Given the description of an element on the screen output the (x, y) to click on. 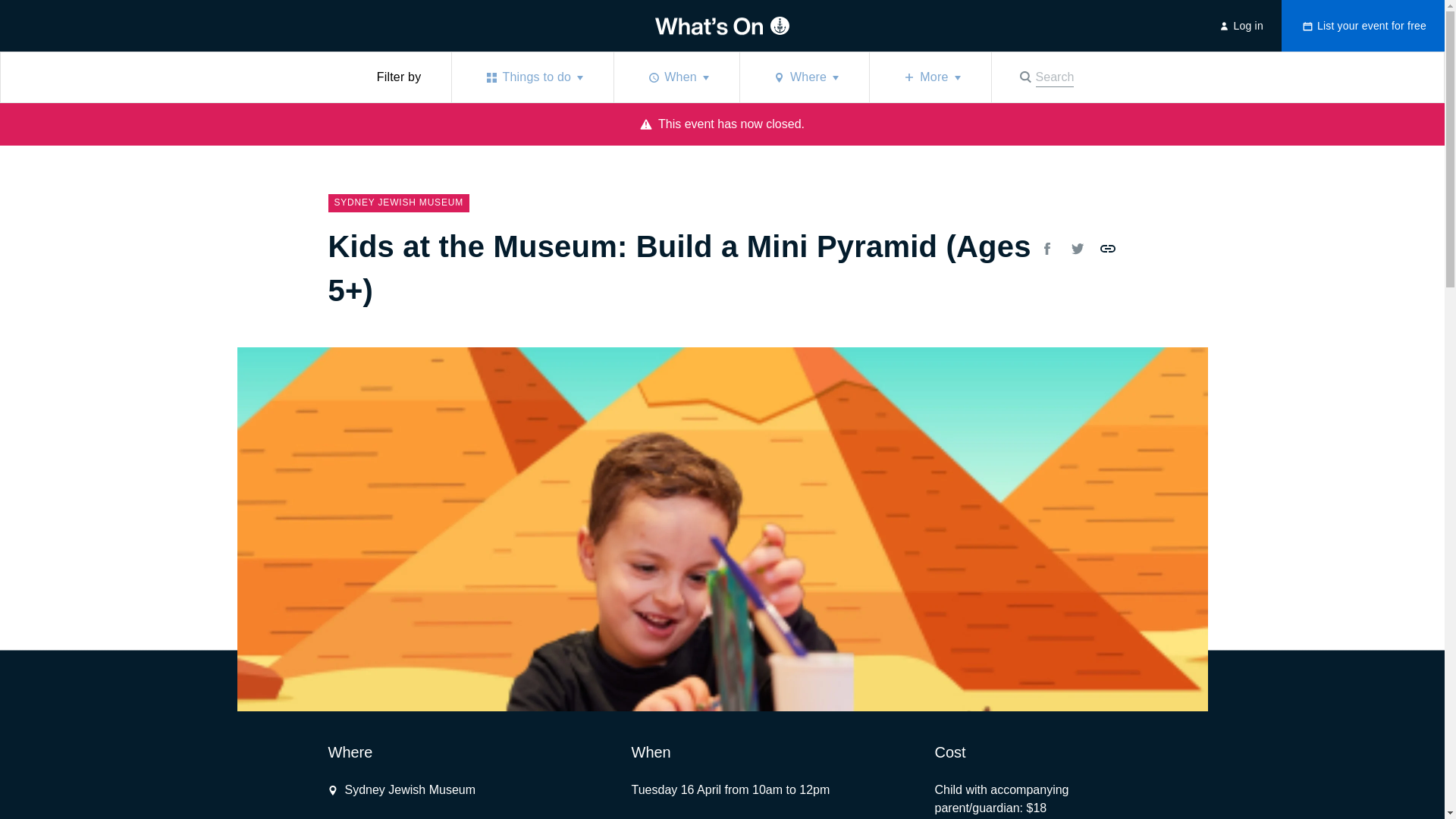
Search (1045, 77)
More (929, 77)
Sydney Jewish Museum (401, 790)
Where (1239, 25)
Share on Twitter (401, 790)
Share on Facebook (804, 77)
Copy this link (1076, 248)
Search (1045, 248)
Things to do (1106, 248)
Share on Facebook (1045, 77)
Things to do (531, 77)
When (1045, 248)
More (531, 77)
